Given the description of an element on the screen output the (x, y) to click on. 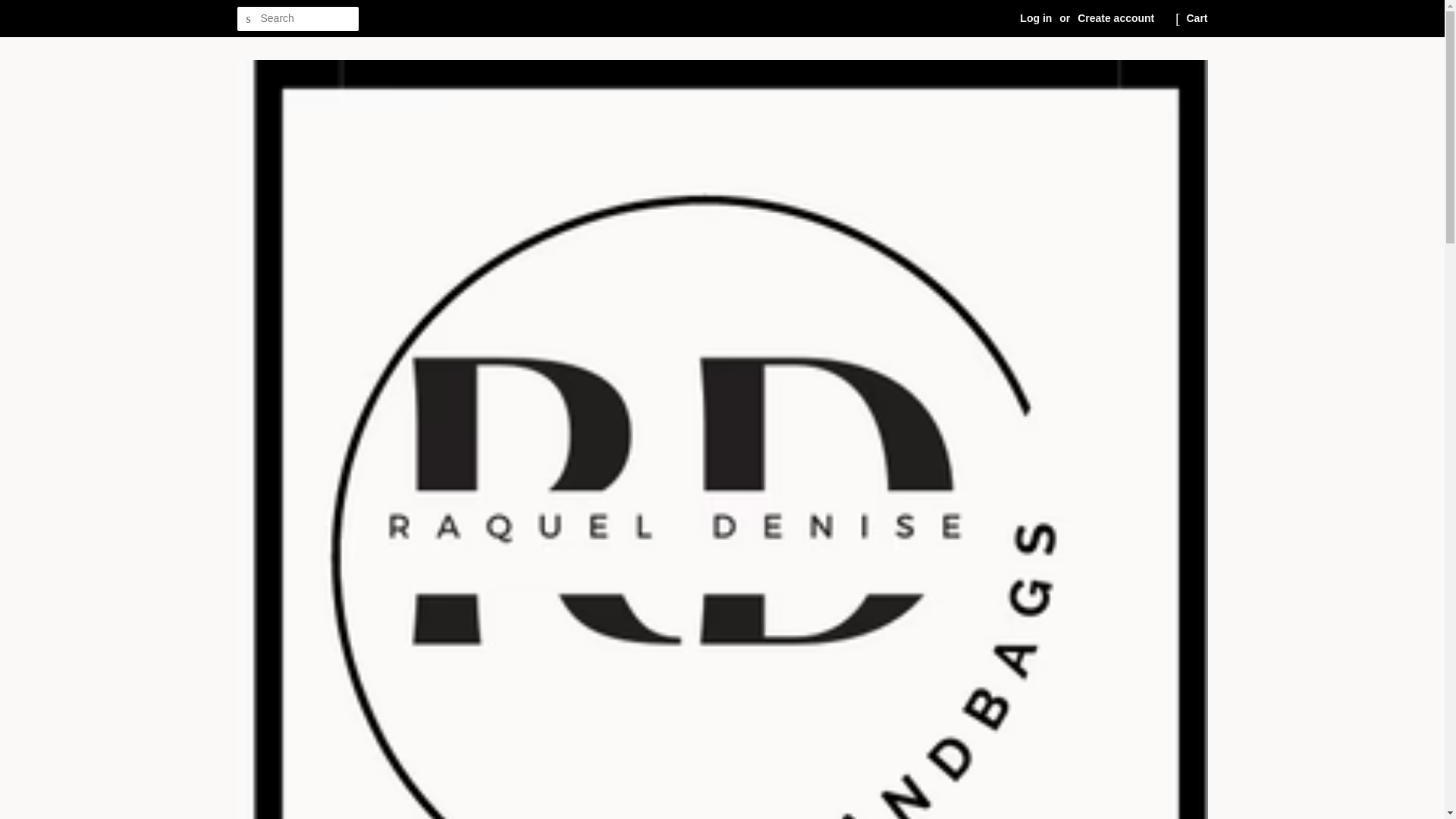
Log in (1035, 18)
SEARCH (247, 18)
Create account (1115, 18)
Cart (1196, 18)
